Given the description of an element on the screen output the (x, y) to click on. 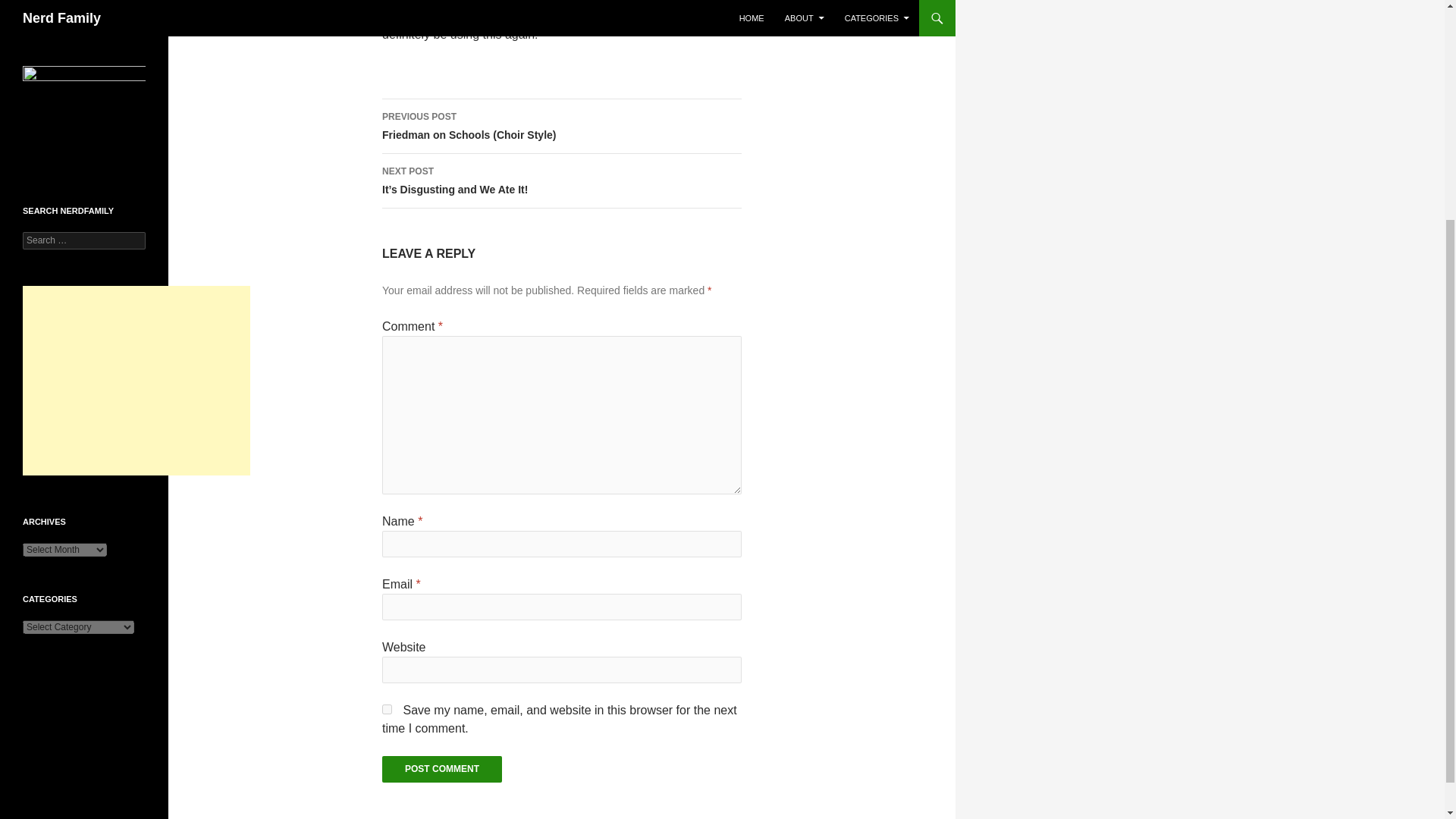
yes (386, 709)
Preview (39, 9)
Post Comment (441, 768)
FeedBlitz (42, 22)
Post Comment (441, 768)
